Given the description of an element on the screen output the (x, y) to click on. 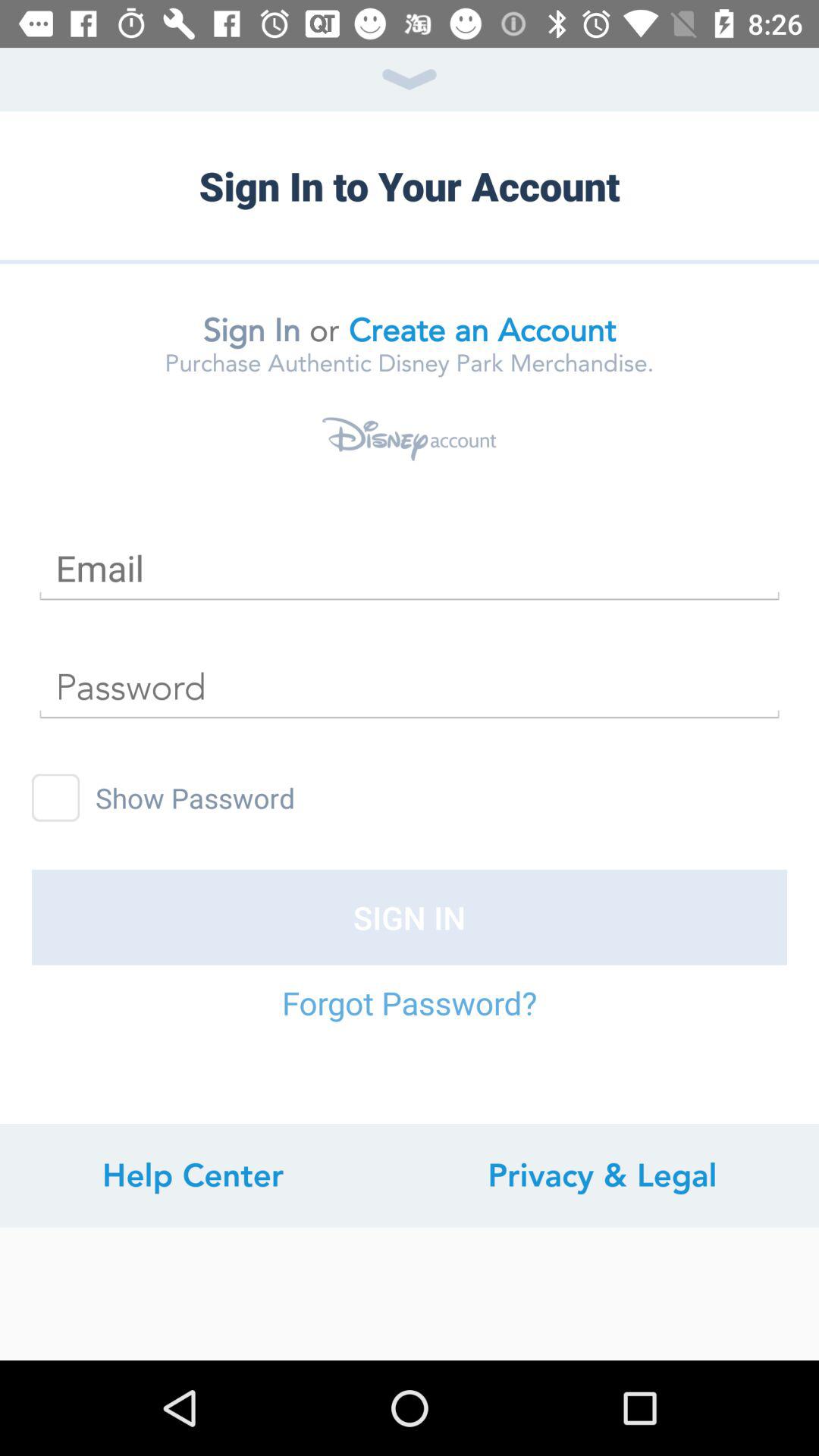
tap help center icon (192, 1175)
